Given the description of an element on the screen output the (x, y) to click on. 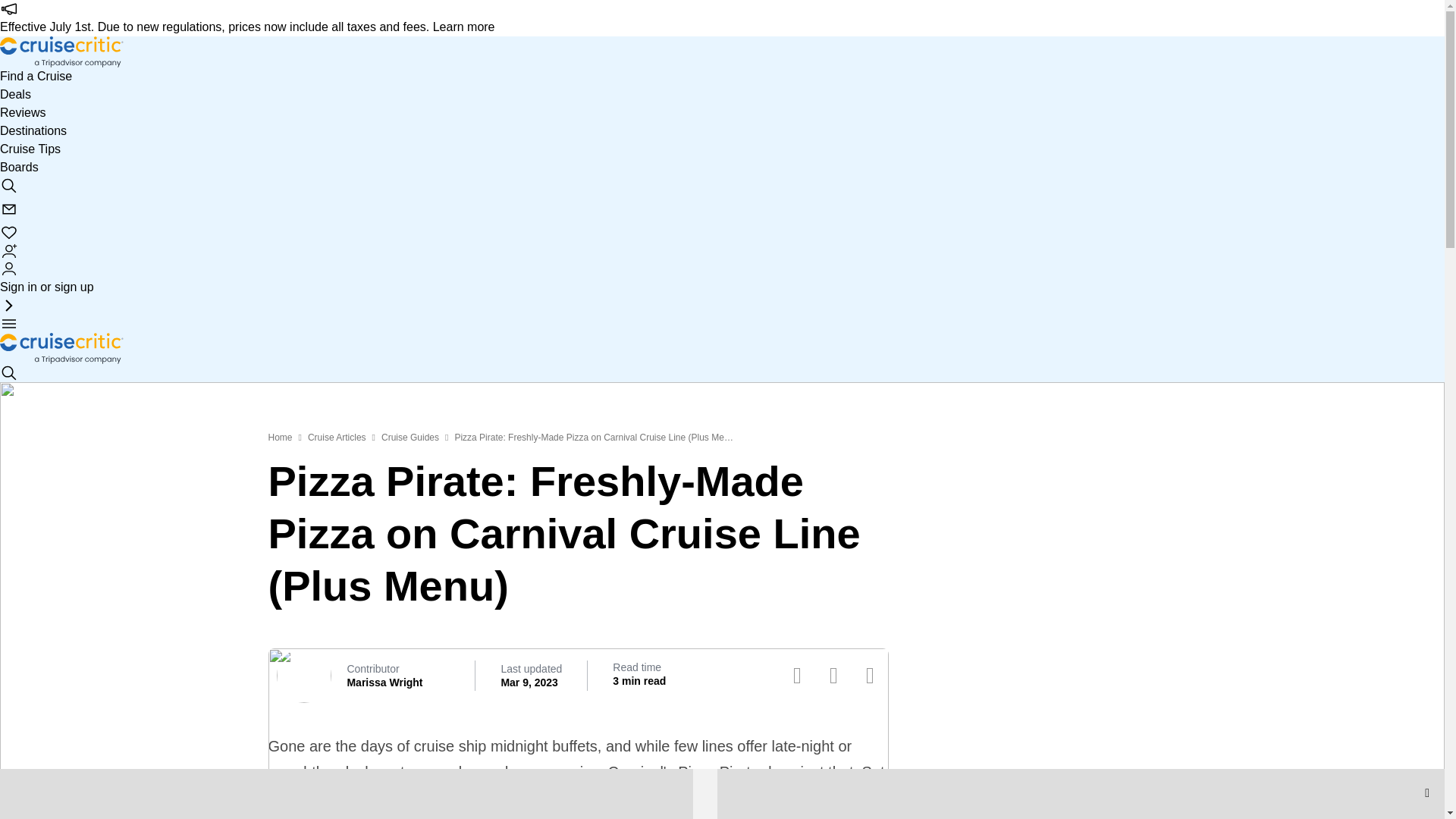
Learn more (463, 26)
Reviews (22, 113)
Cruise Guides (410, 437)
Boards (19, 166)
Home (279, 437)
Deals (15, 94)
Find a Cruise (35, 75)
Cruise Articles (336, 437)
Sign in or sign up (47, 277)
Destinations (33, 131)
